Given the description of an element on the screen output the (x, y) to click on. 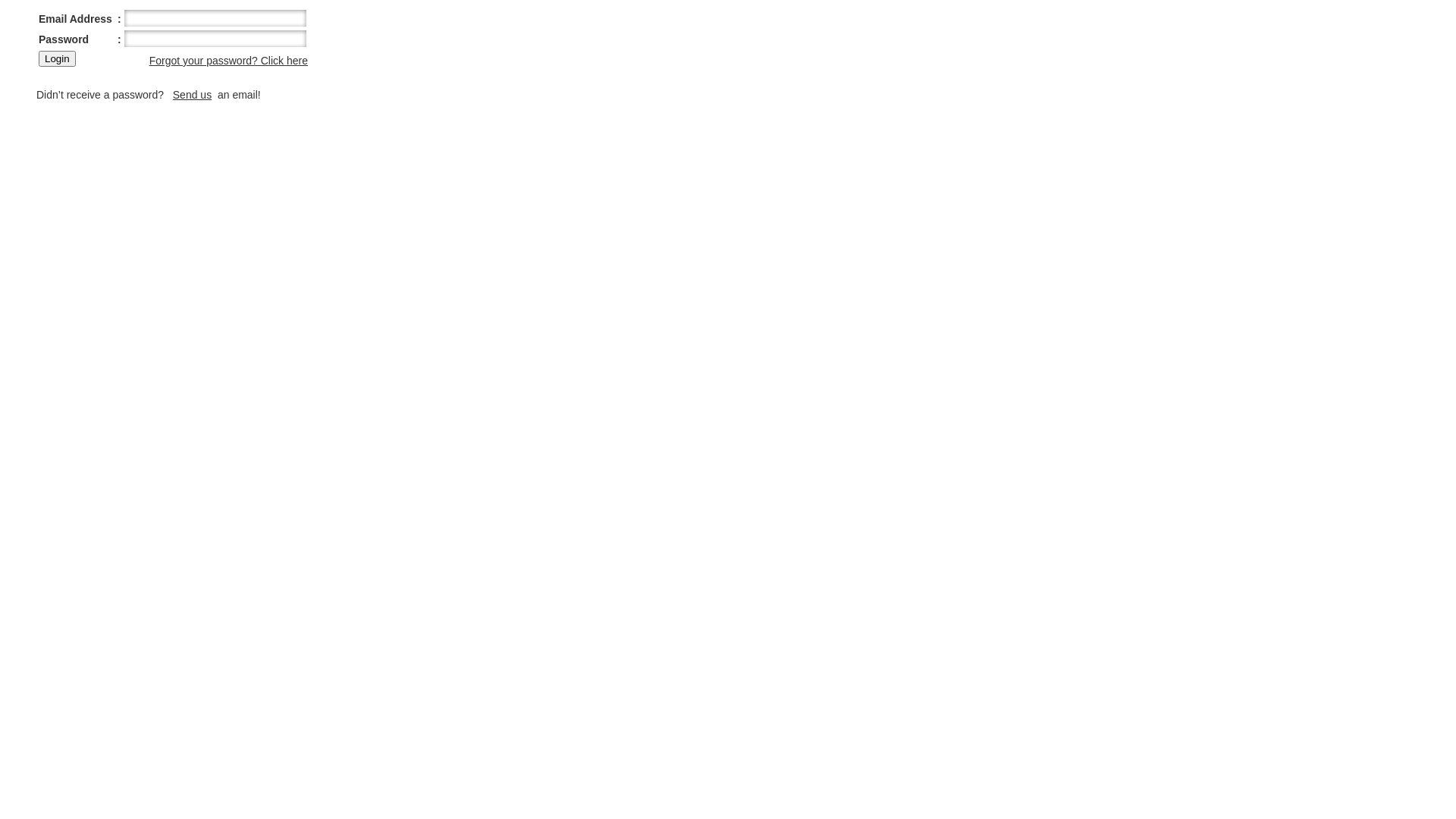
Send us Element type: text (191, 94)
Forgot your password? Click here Element type: text (228, 60)
Login Element type: text (56, 58)
